Given the description of an element on the screen output the (x, y) to click on. 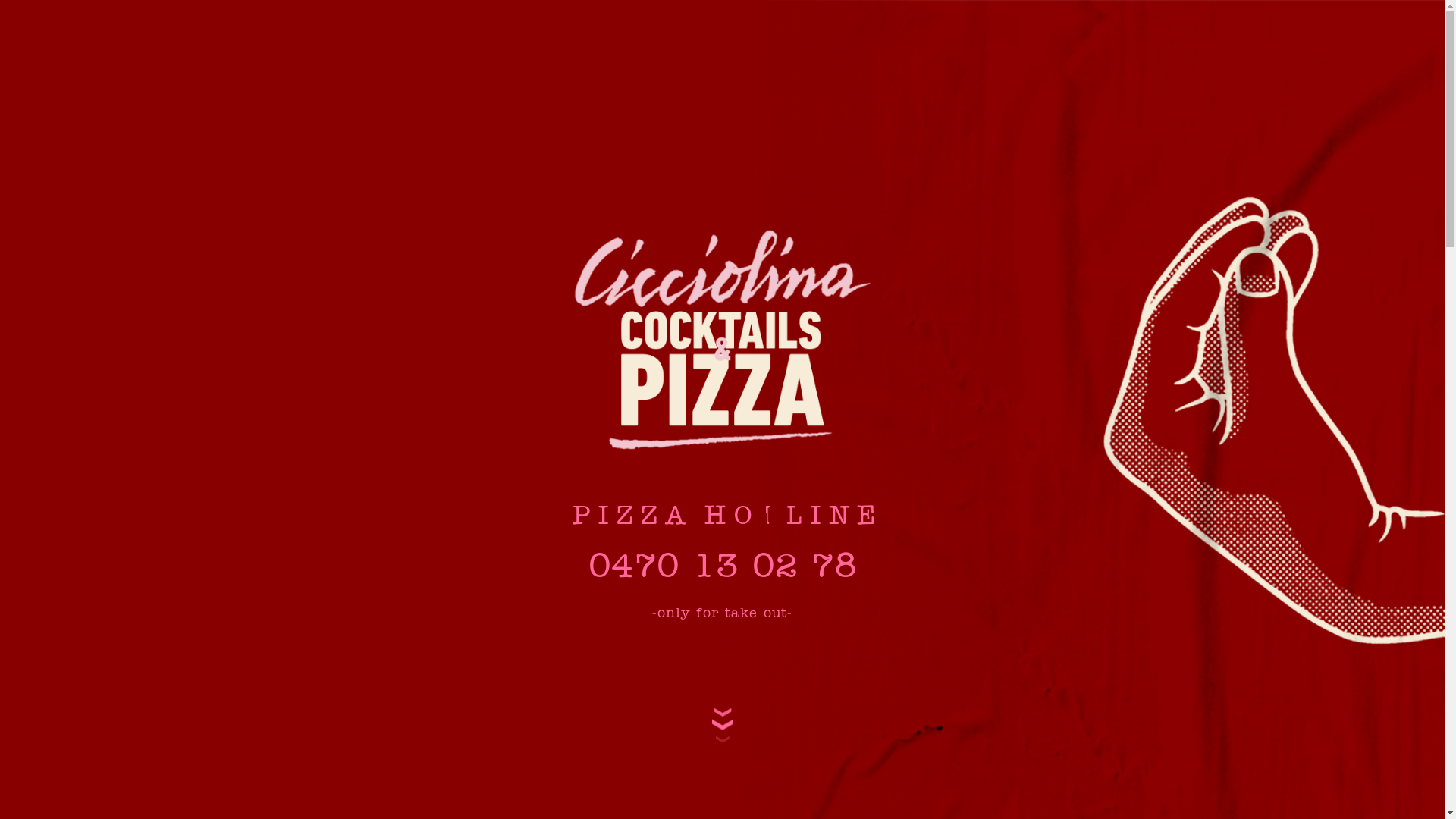
0470 13 02 78 Element type: text (722, 567)
